Given the description of an element on the screen output the (x, y) to click on. 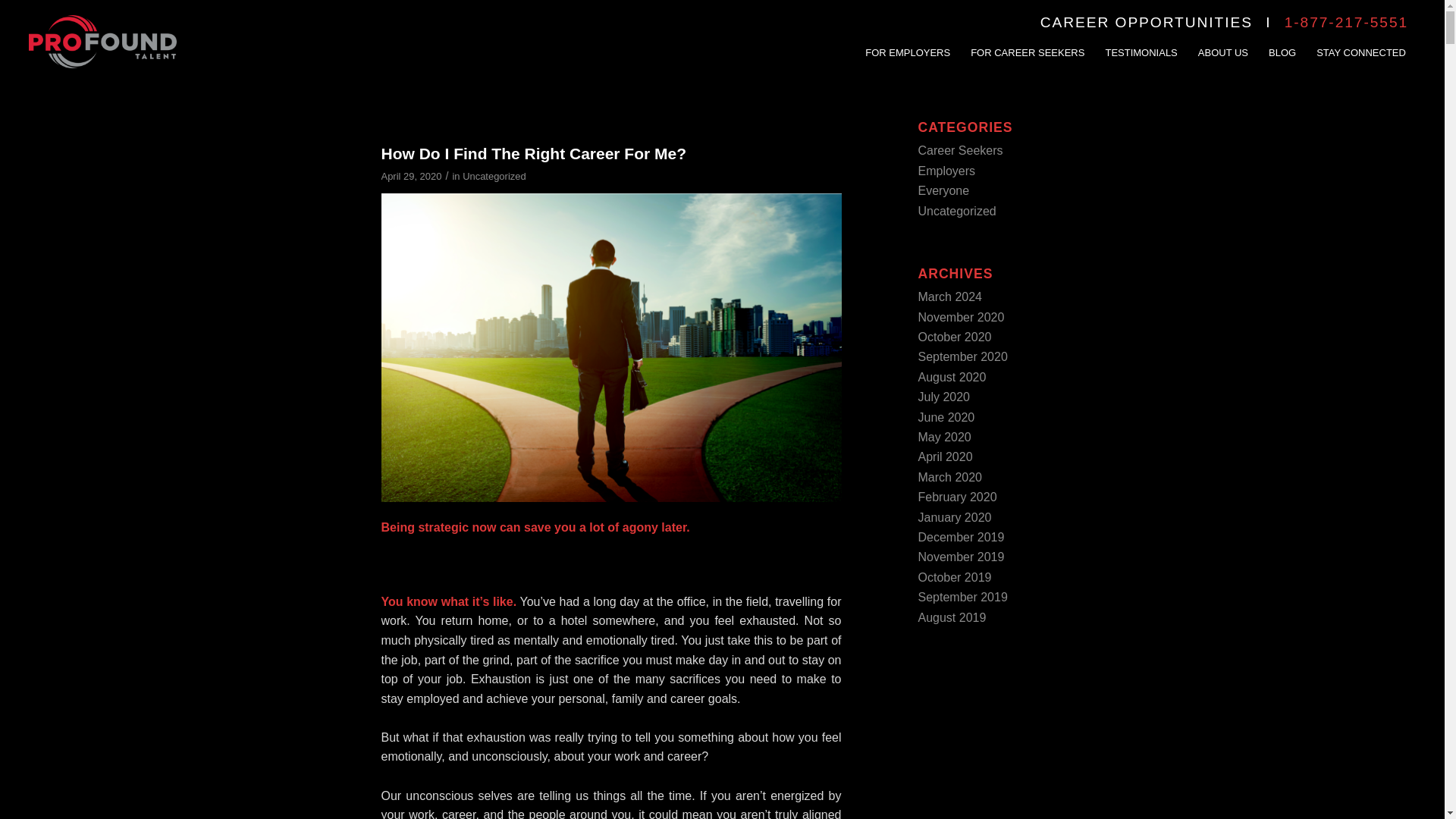
How Do I Find The Right Career For Me? (532, 153)
Permanent Link: How Do I Find The Right Career For Me? (532, 153)
CAREER OPPORTUNITIES (1146, 22)
Uncategorized (494, 175)
ABOUT US (1222, 41)
FOR EMPLOYERS (907, 41)
FOR CAREER SEEKERS (1026, 41)
ProFound Talent (102, 41)
STAY CONNECTED (1360, 41)
1-877-217-5551 (1345, 22)
TESTIMONIALS (1140, 41)
